Given the description of an element on the screen output the (x, y) to click on. 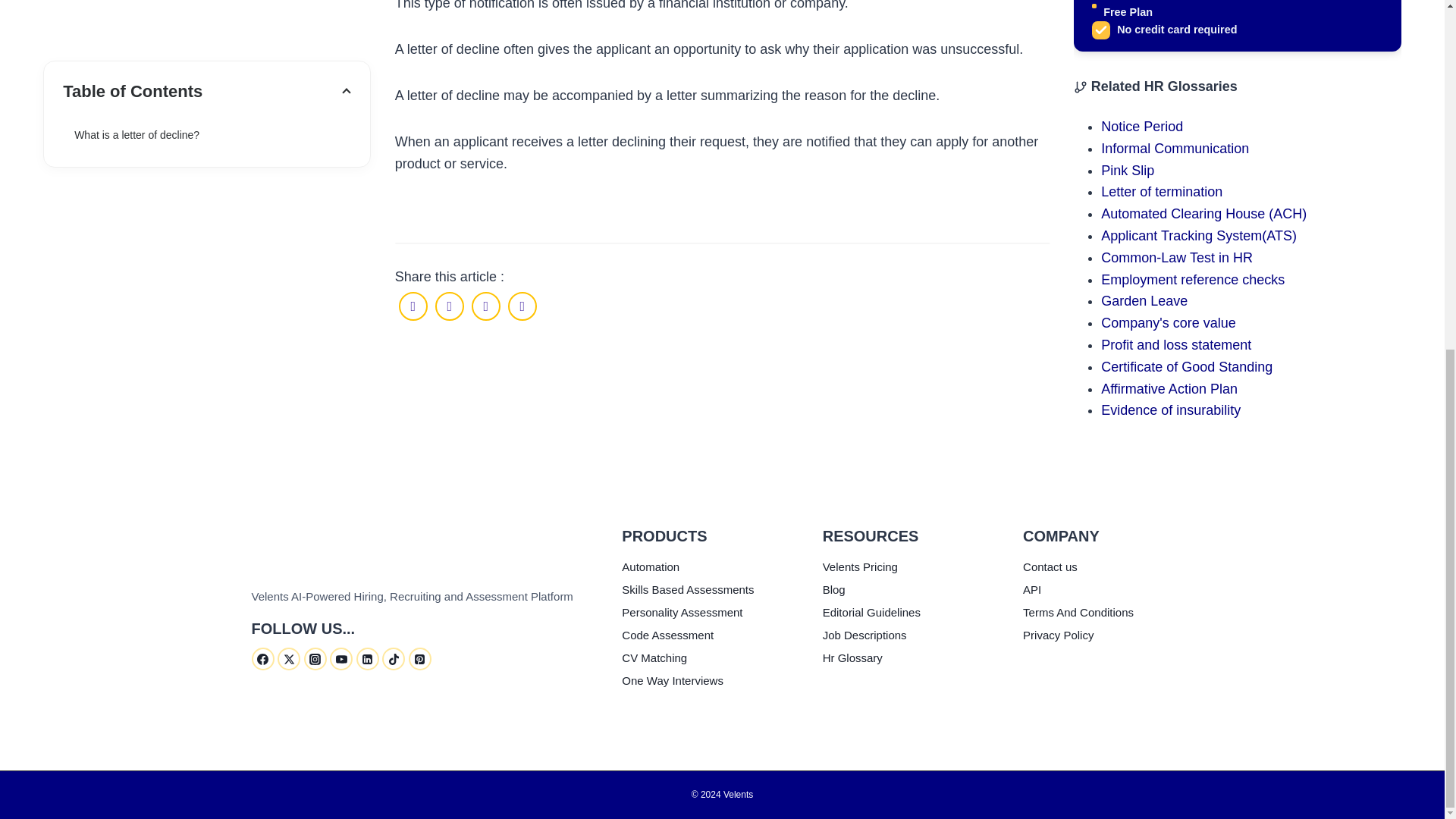
Informal Communication (1174, 148)
Notice Period (1141, 126)
